Given the description of an element on the screen output the (x, y) to click on. 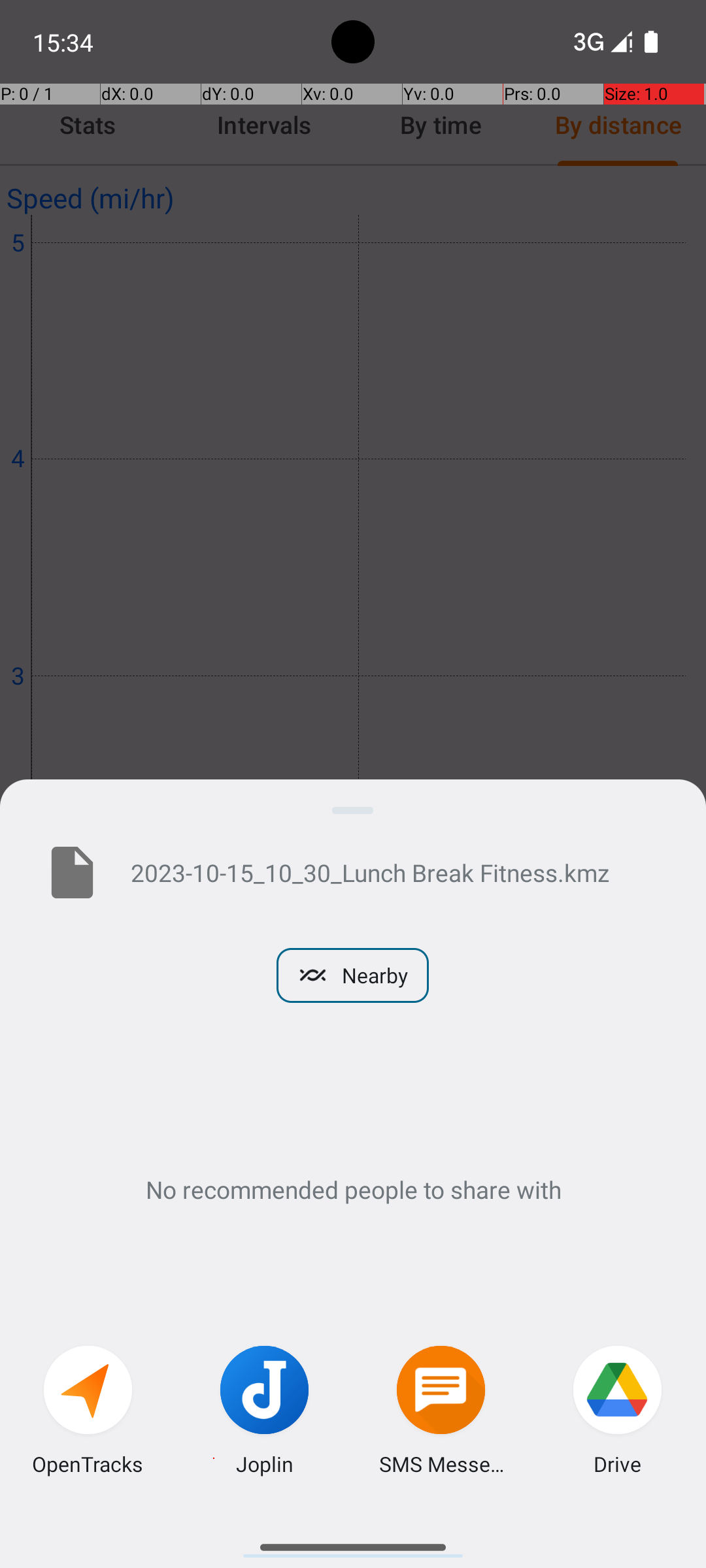
2023-10-15_10_30_Lunch Break Fitness.kmz Element type: android.widget.TextView (397, 872)
